Given the description of an element on the screen output the (x, y) to click on. 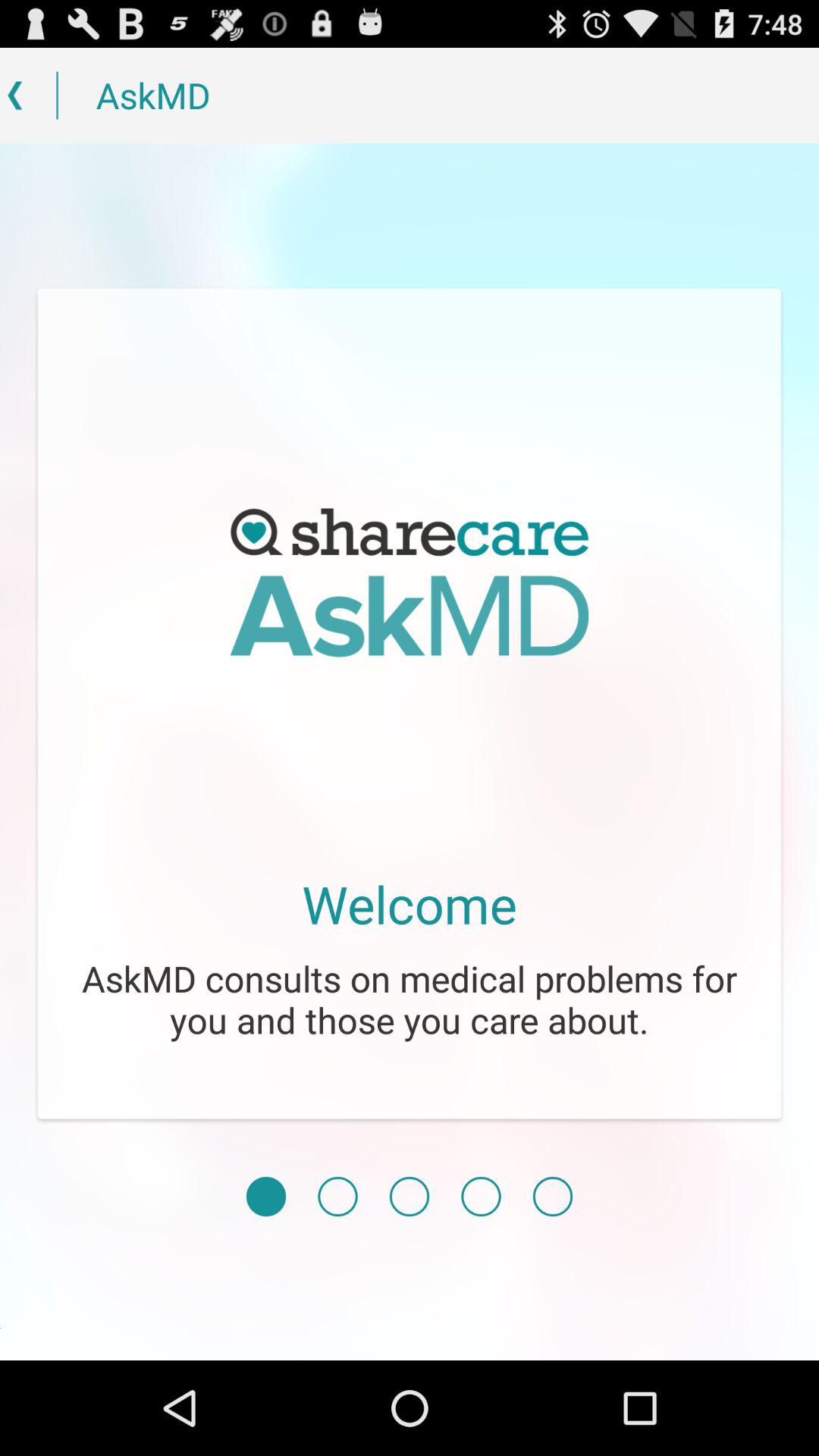
open the radio button at the bottom right corner (552, 1196)
